Given the description of an element on the screen output the (x, y) to click on. 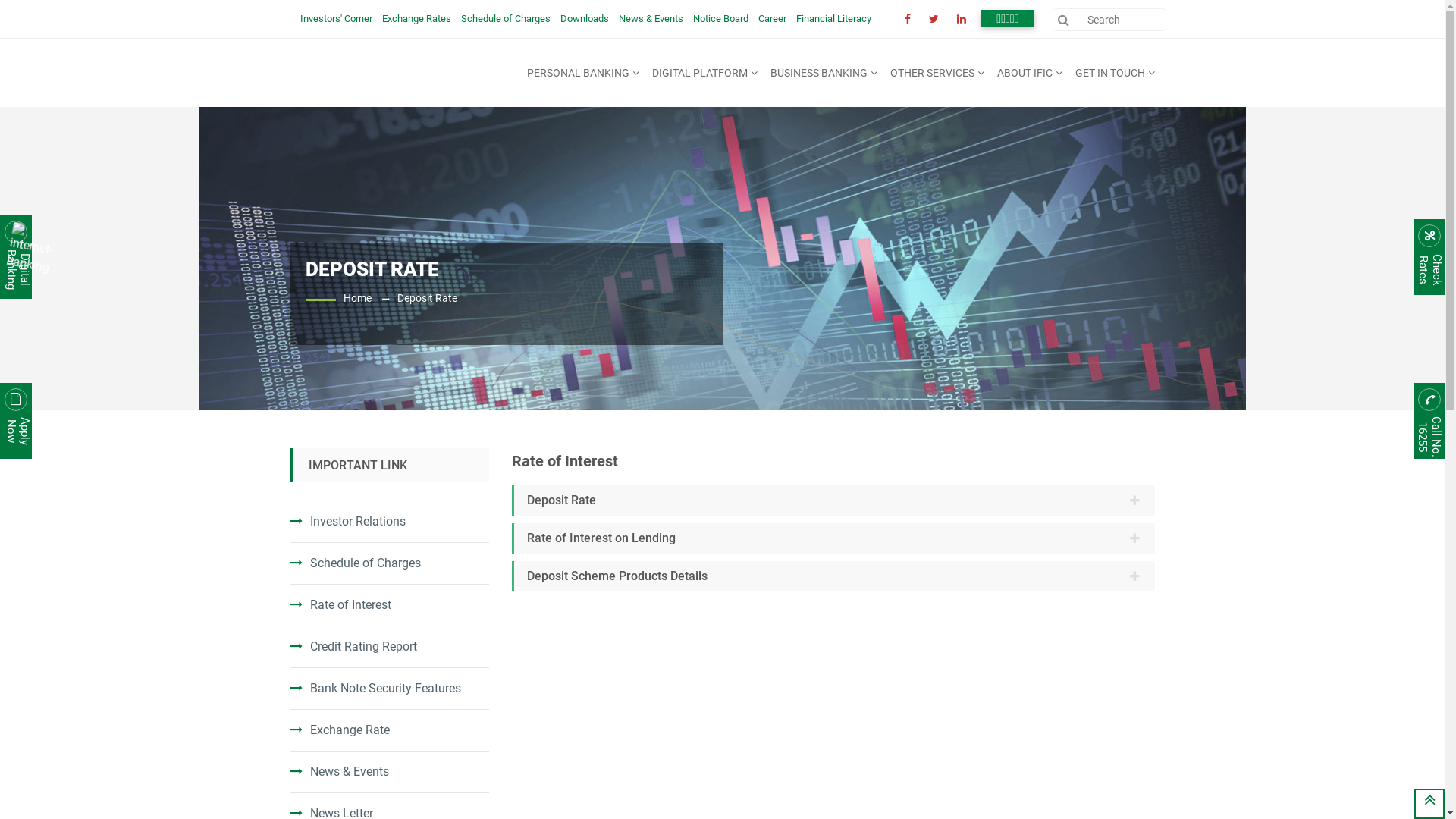
Investors' Corner Element type: text (336, 18)
Deposit Rate Element type: text (427, 297)
Bank Note Security Features Element type: text (374, 687)
Career Element type: text (772, 18)
BUSINESS BANKING Element type: text (824, 72)
Rate of Interest on Lending Element type: text (832, 538)
Downloads Element type: text (583, 18)
Home Element type: text (356, 297)
DIGITAL PLATFORM Element type: text (705, 72)
News & Events Element type: text (338, 771)
Investor Relations Element type: text (346, 521)
Deposit Rate Element type: text (832, 500)
OTHER SERVICES Element type: text (937, 72)
Notice Board Element type: text (720, 18)
GET IN TOUCH Element type: text (1111, 72)
News & Events Element type: text (650, 18)
Rate of Interest Element type: text (339, 604)
Schedule of Charges Element type: text (505, 18)
Exchange Rates Element type: text (416, 18)
Credit Rating Report Element type: text (352, 646)
PERSONAL BANKING Element type: text (583, 72)
Exchange Rate Element type: text (339, 729)
Deposit Scheme Products Details Element type: text (832, 575)
ABOUT IFIC Element type: text (1030, 72)
Schedule of Charges Element type: text (354, 562)
Financial Literacy Element type: text (833, 18)
